Given the description of an element on the screen output the (x, y) to click on. 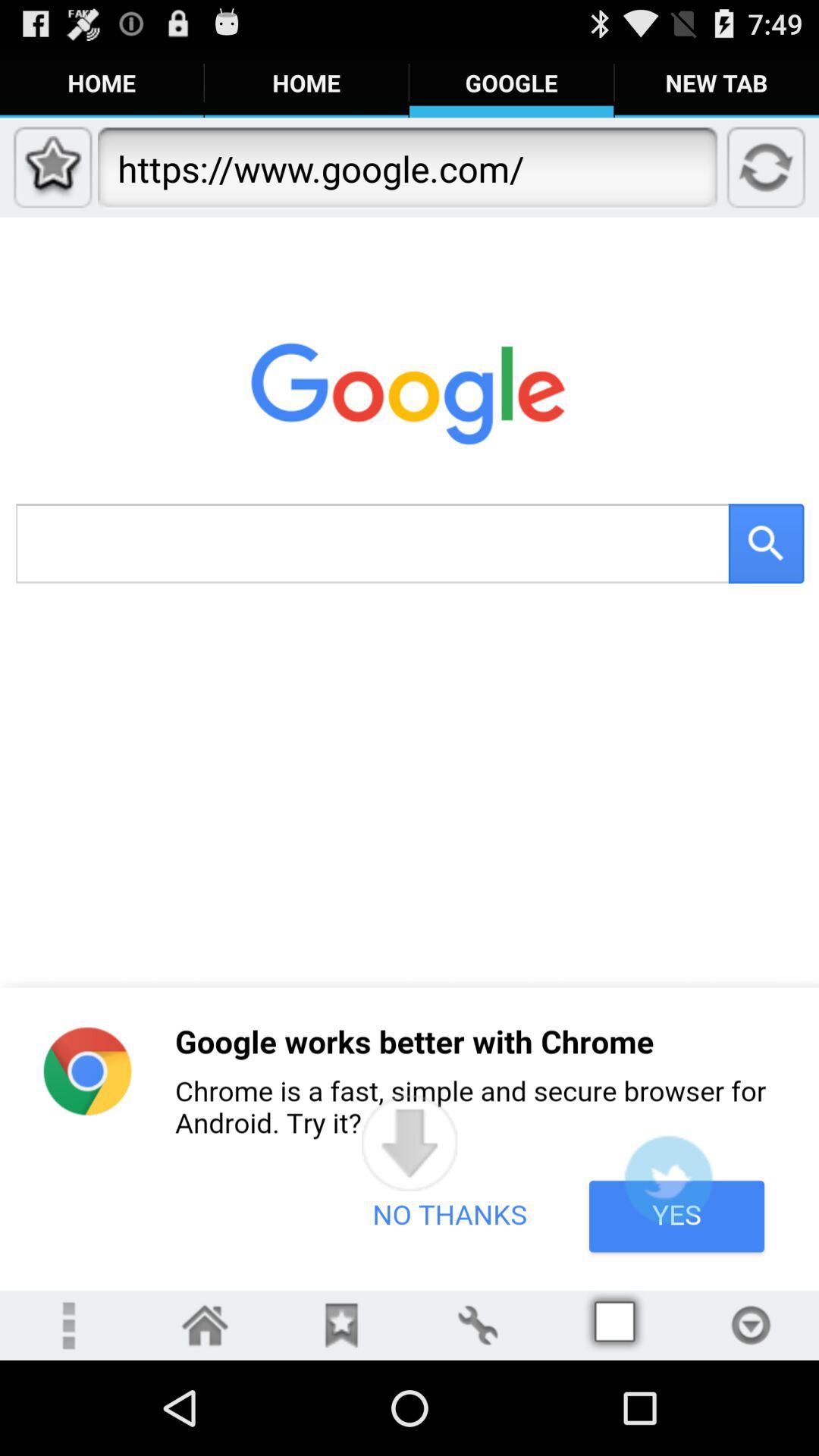
bookmark page (341, 1325)
